Given the description of an element on the screen output the (x, y) to click on. 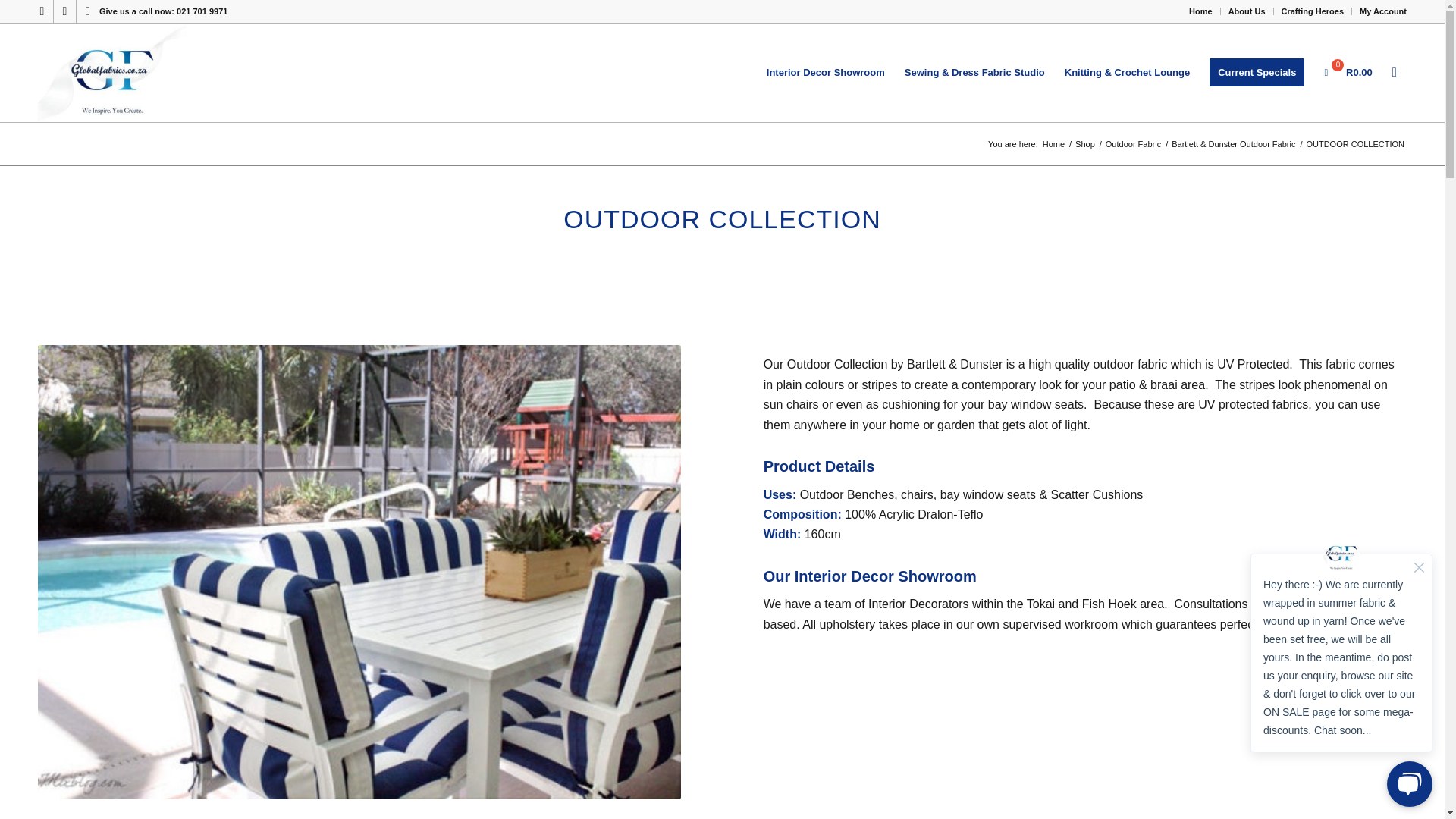
Interior Decor Showroom (826, 72)
Home (1200, 11)
Twitter (41, 11)
About Us (1246, 11)
Instagram (88, 11)
Global Fabrics (1054, 143)
Facebook (64, 11)
Crafting Heroes (1312, 11)
Outdoor Fabric (1133, 143)
Shop (1085, 143)
My Account (1382, 11)
